Given the description of an element on the screen output the (x, y) to click on. 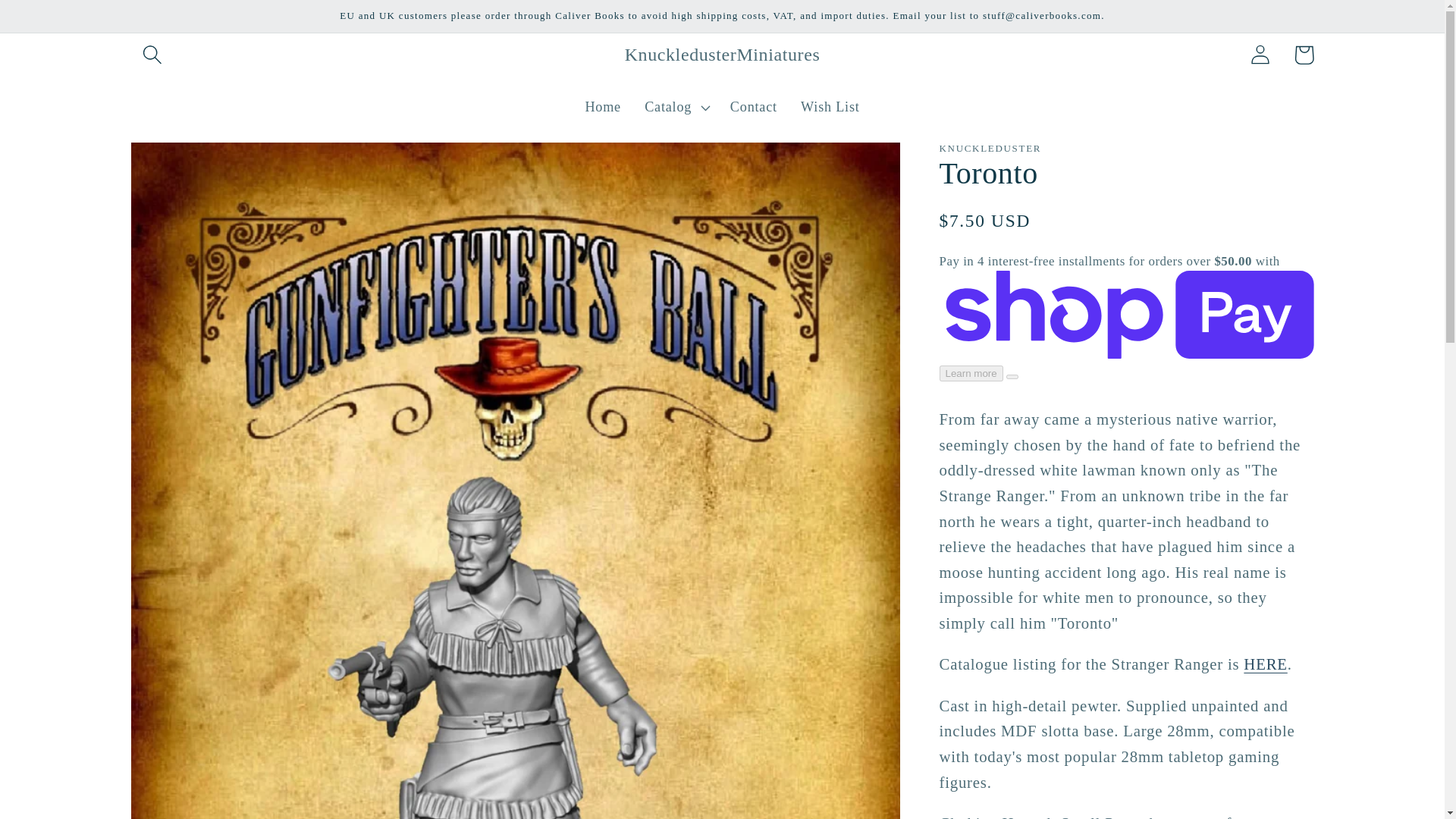
Skip to content (59, 22)
The Strange Ranger (1265, 663)
